Given the description of an element on the screen output the (x, y) to click on. 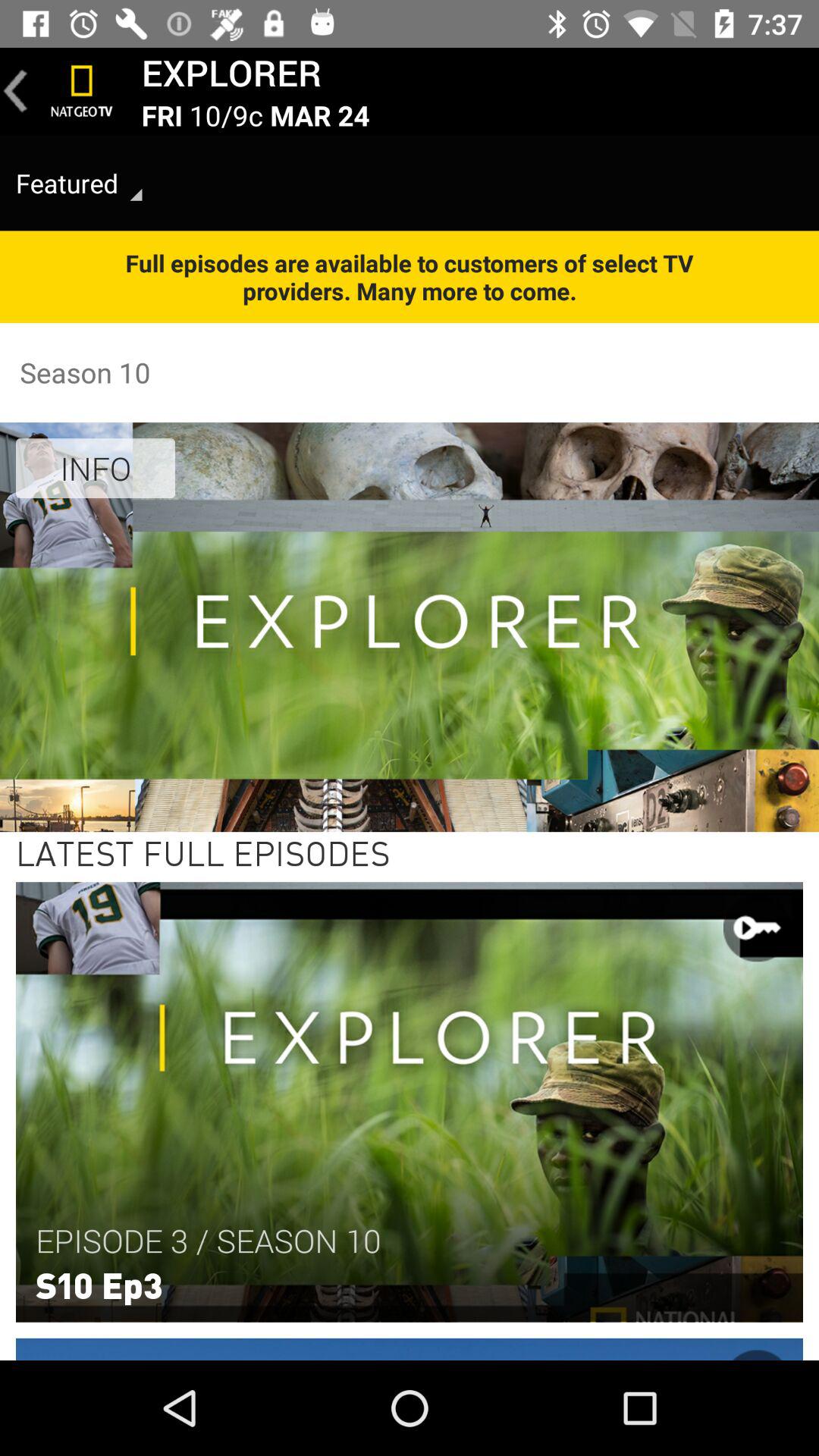
select item above latest full episodes item (95, 468)
